Given the description of an element on the screen output the (x, y) to click on. 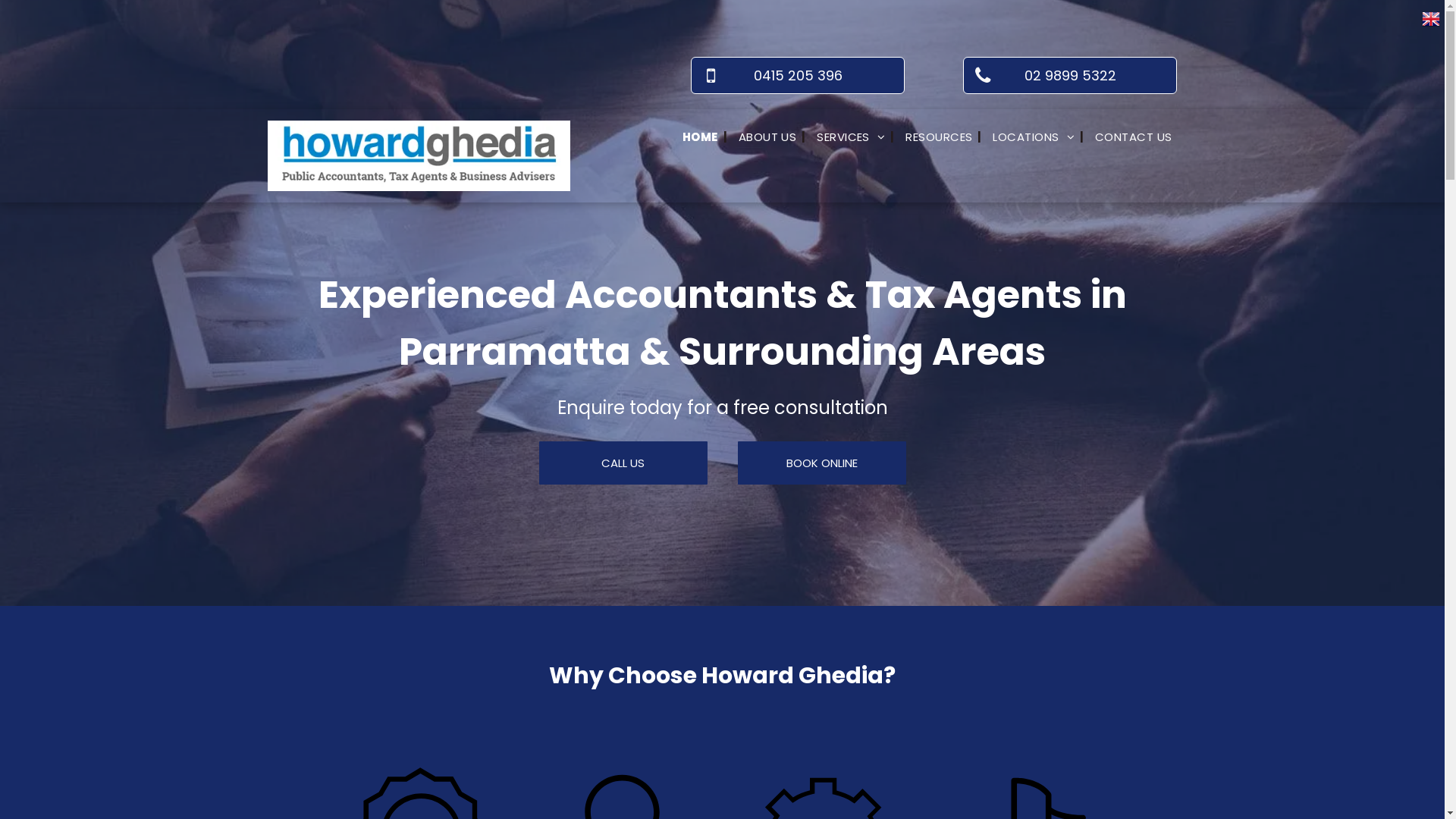
SERVICES Element type: text (847, 136)
Howard Ghedia Element type: hover (418, 155)
0415 205 396 Element type: text (797, 75)
HOME Element type: text (697, 136)
02 9899 5322 Element type: text (1069, 75)
CALL US Element type: text (622, 462)
ABOUT US Element type: text (764, 136)
CONTACT US Element type: text (1130, 136)
LOCATIONS Element type: text (1030, 136)
BOOK ONLINE Element type: text (821, 462)
RESOURCES Element type: text (935, 136)
